Given the description of an element on the screen output the (x, y) to click on. 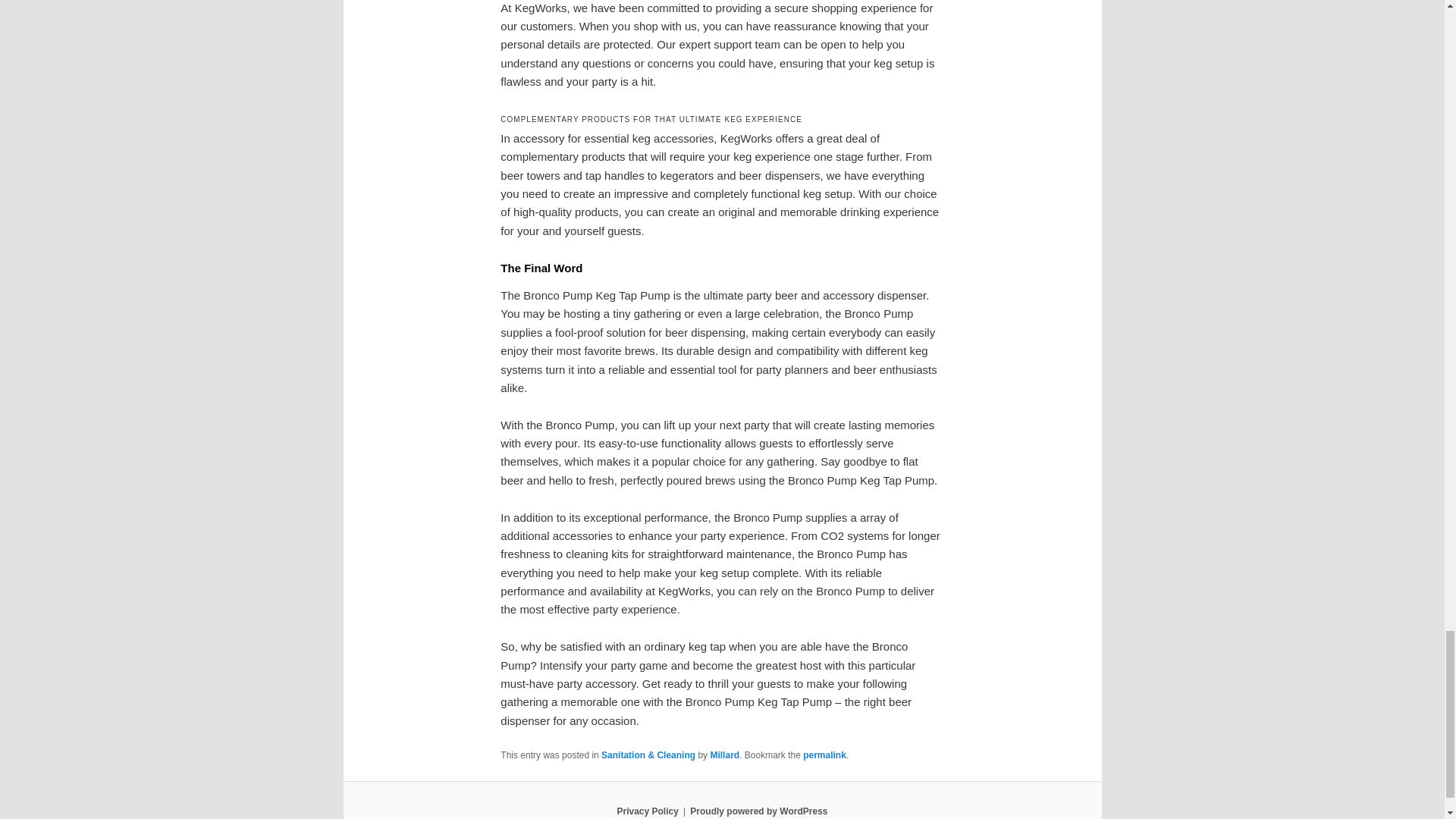
Privacy Policy (646, 810)
permalink (824, 755)
Proudly powered by WordPress (758, 810)
Permalink to Broncos Pump vs. Traditional Plumbing Pumps (824, 755)
Millard (724, 755)
Semantic Personal Publishing Platform (758, 810)
